Given the description of an element on the screen output the (x, y) to click on. 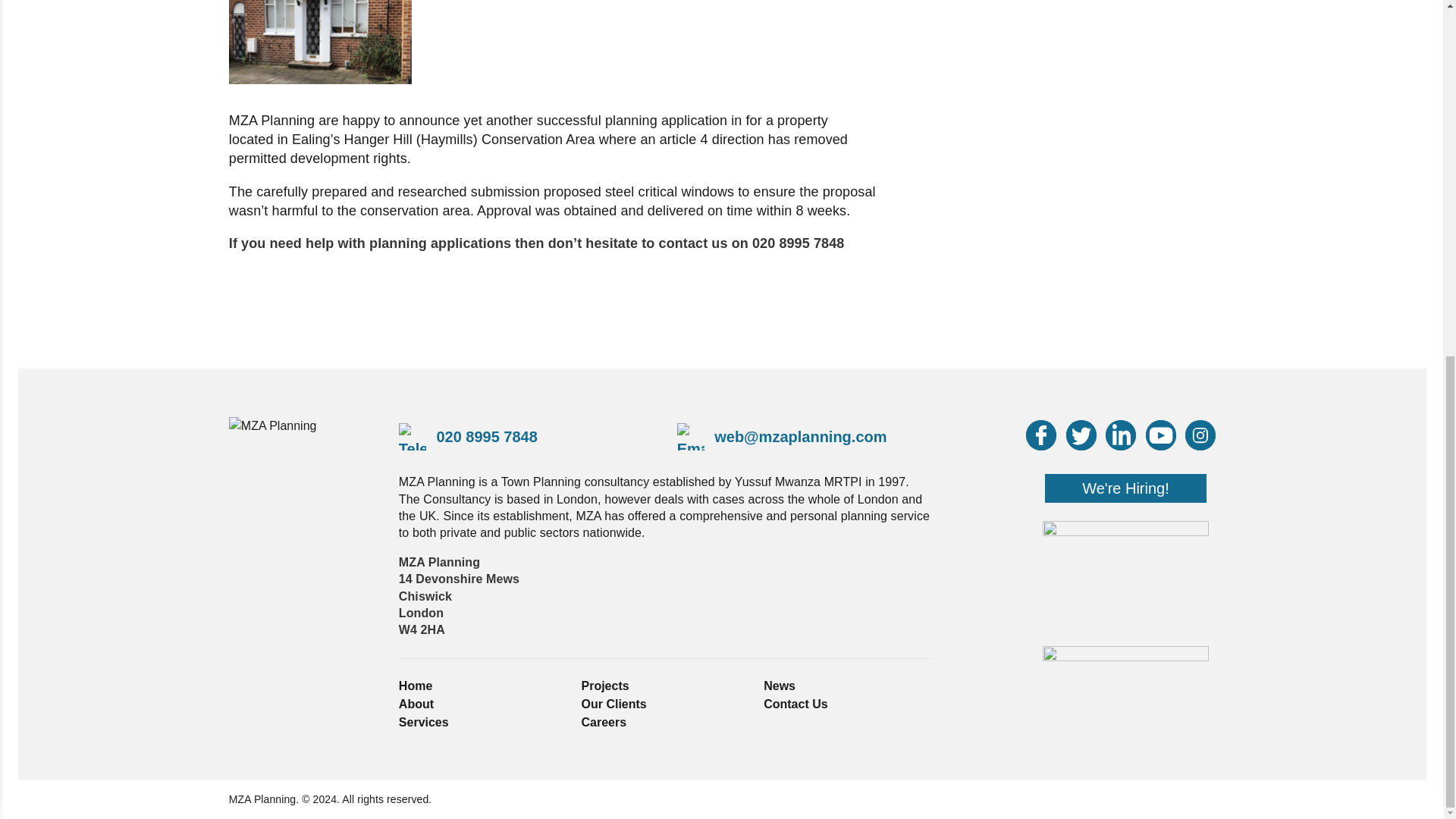
News (778, 685)
Our Clients (613, 703)
Careers (603, 721)
About (415, 703)
Contact Us (794, 703)
Projects (604, 685)
Services (423, 721)
020 8995 7848 (467, 436)
Home (415, 685)
